Given the description of an element on the screen output the (x, y) to click on. 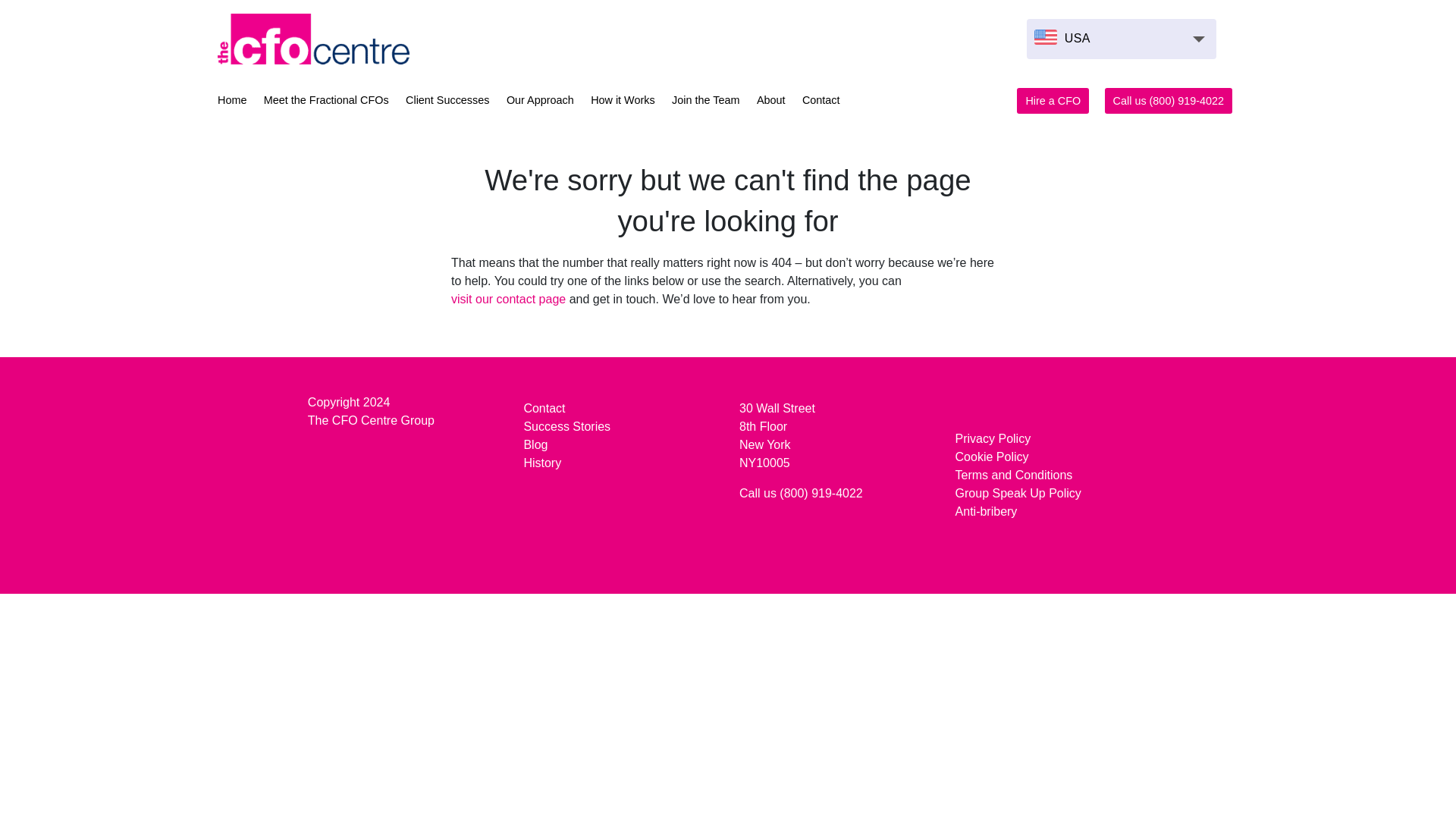
About (771, 101)
Home (231, 101)
Choose country (1120, 38)
USA (1120, 38)
Client Successes (447, 101)
Contact (821, 101)
Our Approach (539, 101)
How it Works (623, 101)
Join the Team (705, 101)
Meet the Fractional CFOs (325, 101)
USA (1061, 38)
